Given the description of an element on the screen output the (x, y) to click on. 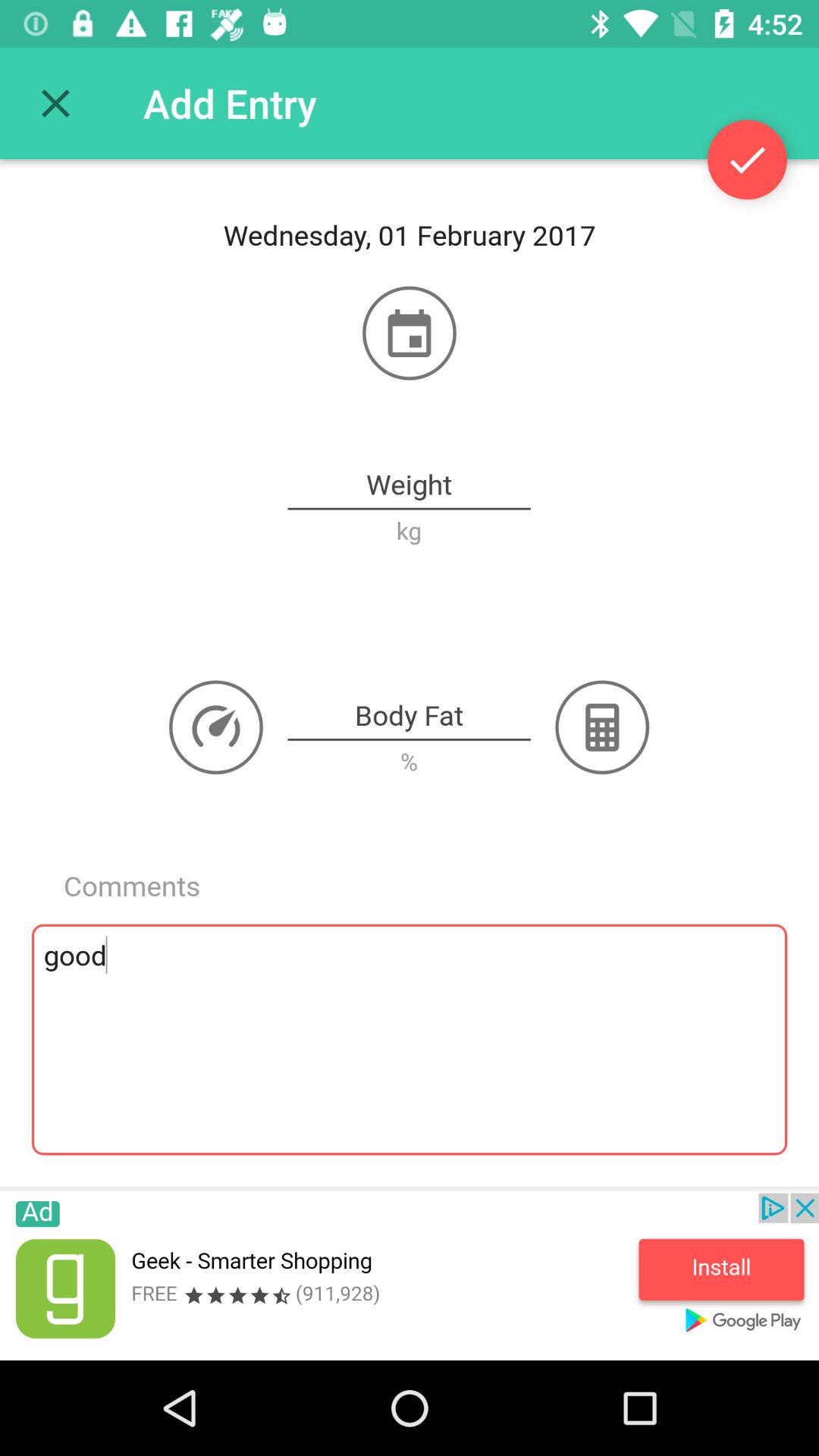
logo (215, 727)
